Given the description of an element on the screen output the (x, y) to click on. 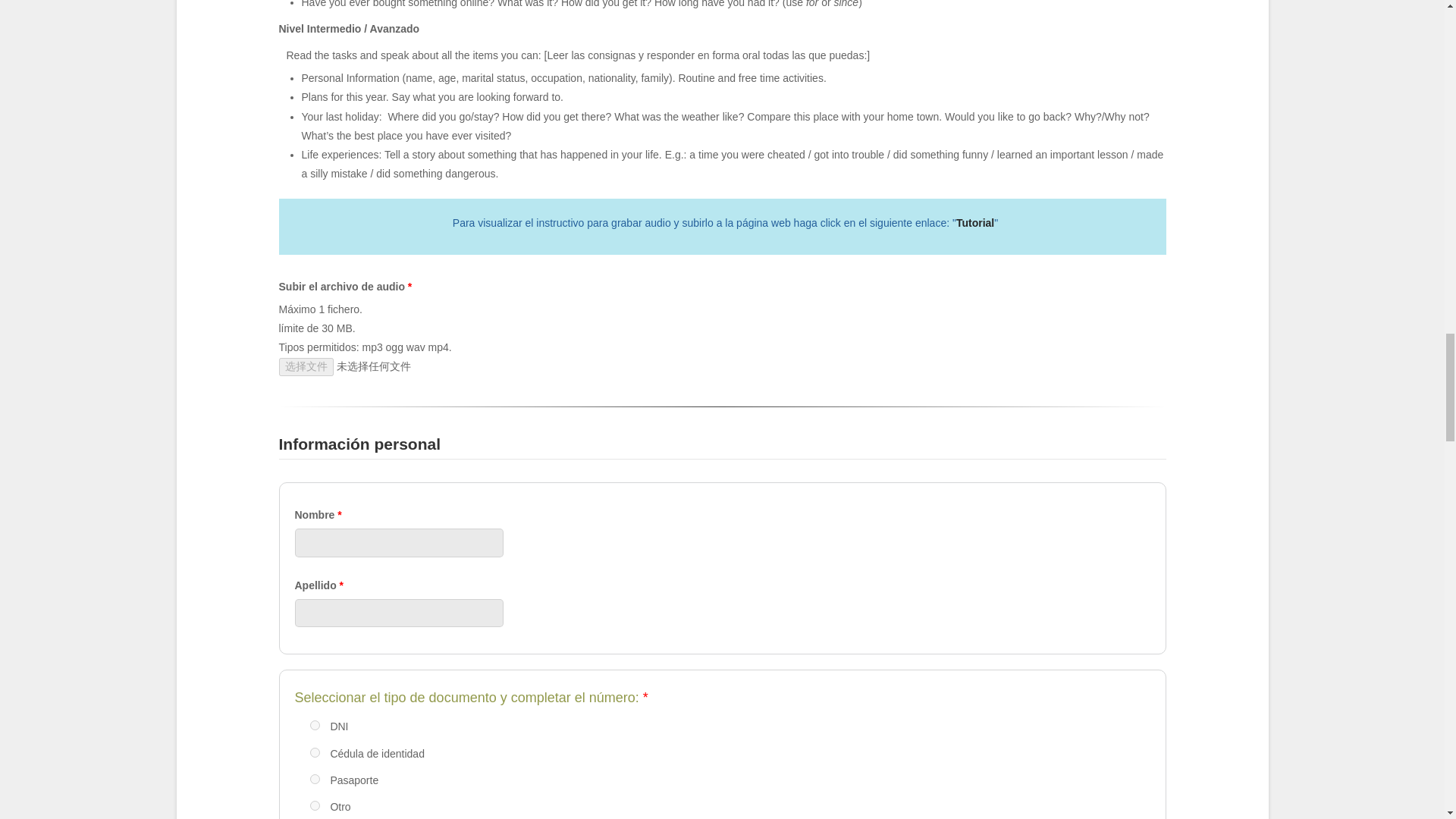
d (313, 805)
c (313, 778)
a (313, 725)
b (313, 752)
